Given the description of an element on the screen output the (x, y) to click on. 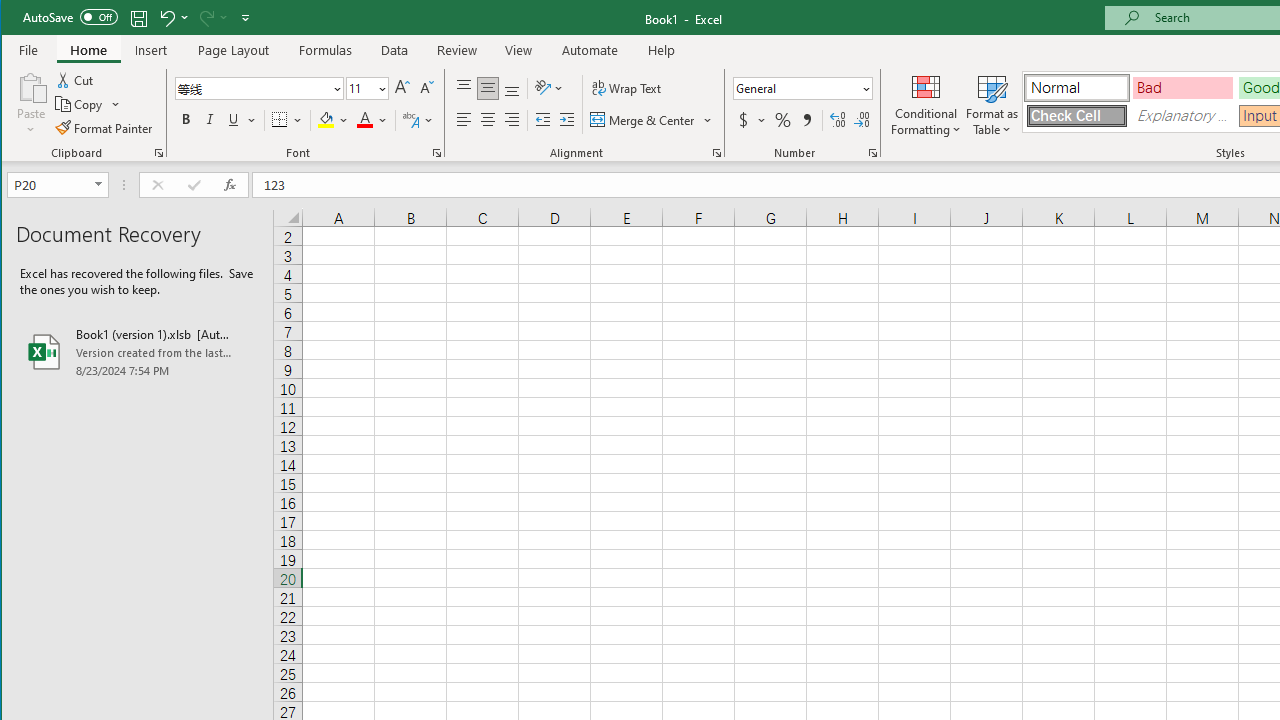
Home (88, 50)
Book1 (version 1).xlsb  [AutoRecovered] (137, 352)
View (518, 50)
Open (99, 184)
3D Models (371, 86)
Slicer... (1052, 104)
3D Map (846, 86)
Insert Column or Bar Chart (616, 78)
Screenshot (447, 101)
Column (949, 104)
3D Map (846, 104)
Customize Quick Access Toolbar (245, 17)
Insert Hierarchy Chart (652, 78)
